Given the description of an element on the screen output the (x, y) to click on. 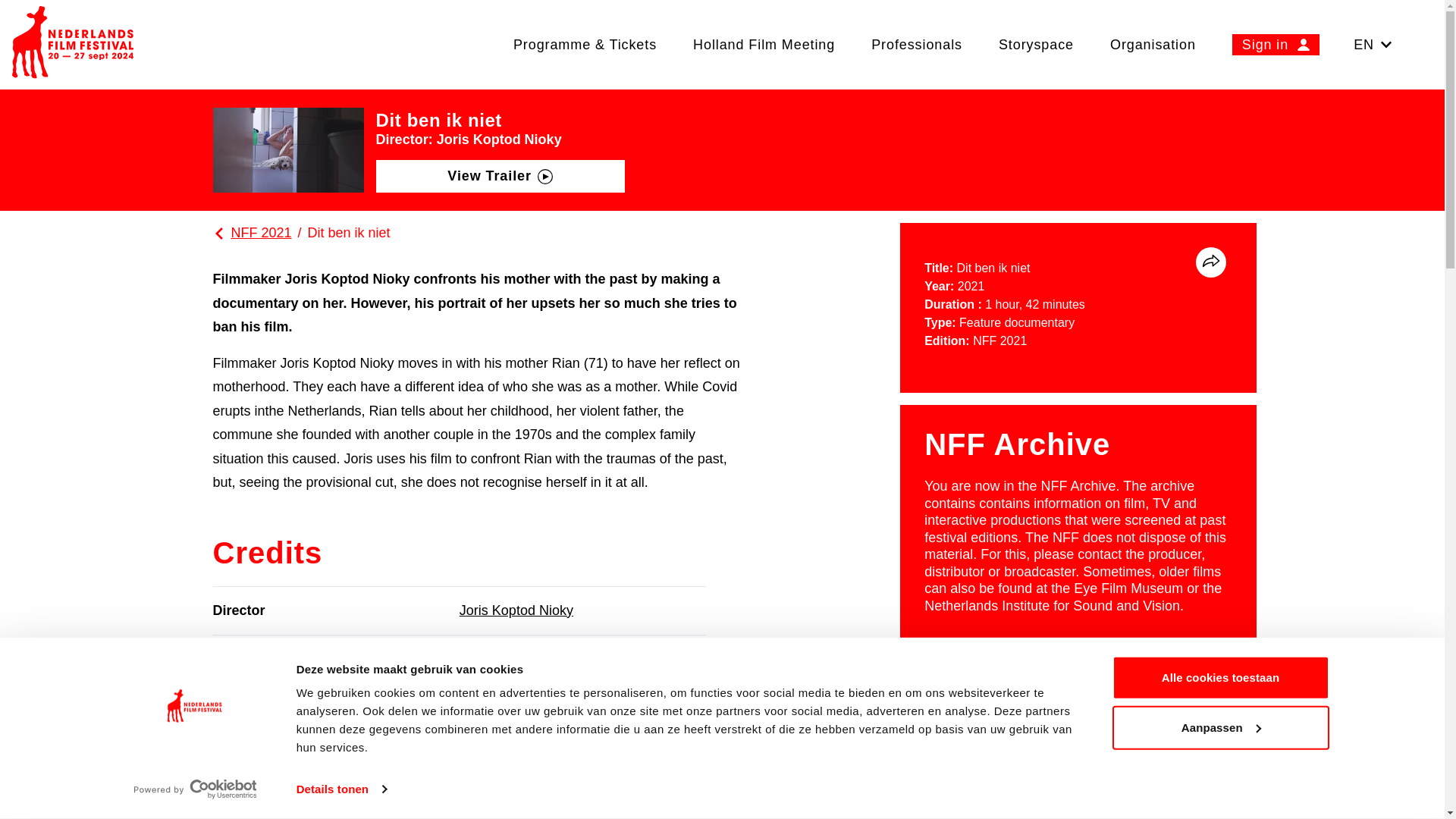
Storyspace (1035, 44)
Holland Film Meeting (764, 44)
Details tonen (342, 789)
Visit the homepage (72, 44)
Professionals (916, 44)
View Trailer (499, 175)
